Given the description of an element on the screen output the (x, y) to click on. 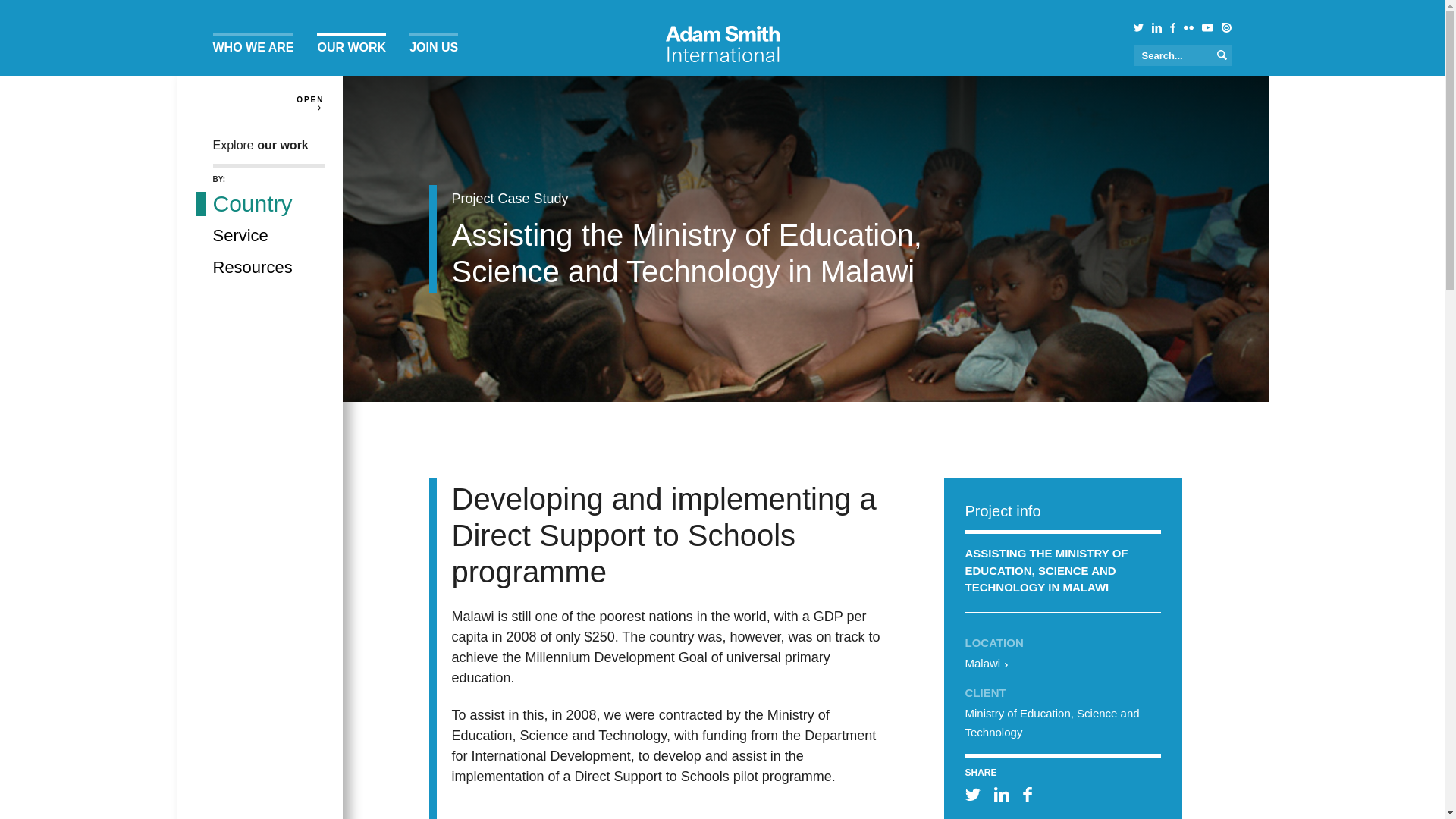
WHO WE ARE (253, 47)
OUR WORK (351, 47)
JOIN US (433, 47)
